Given the description of an element on the screen output the (x, y) to click on. 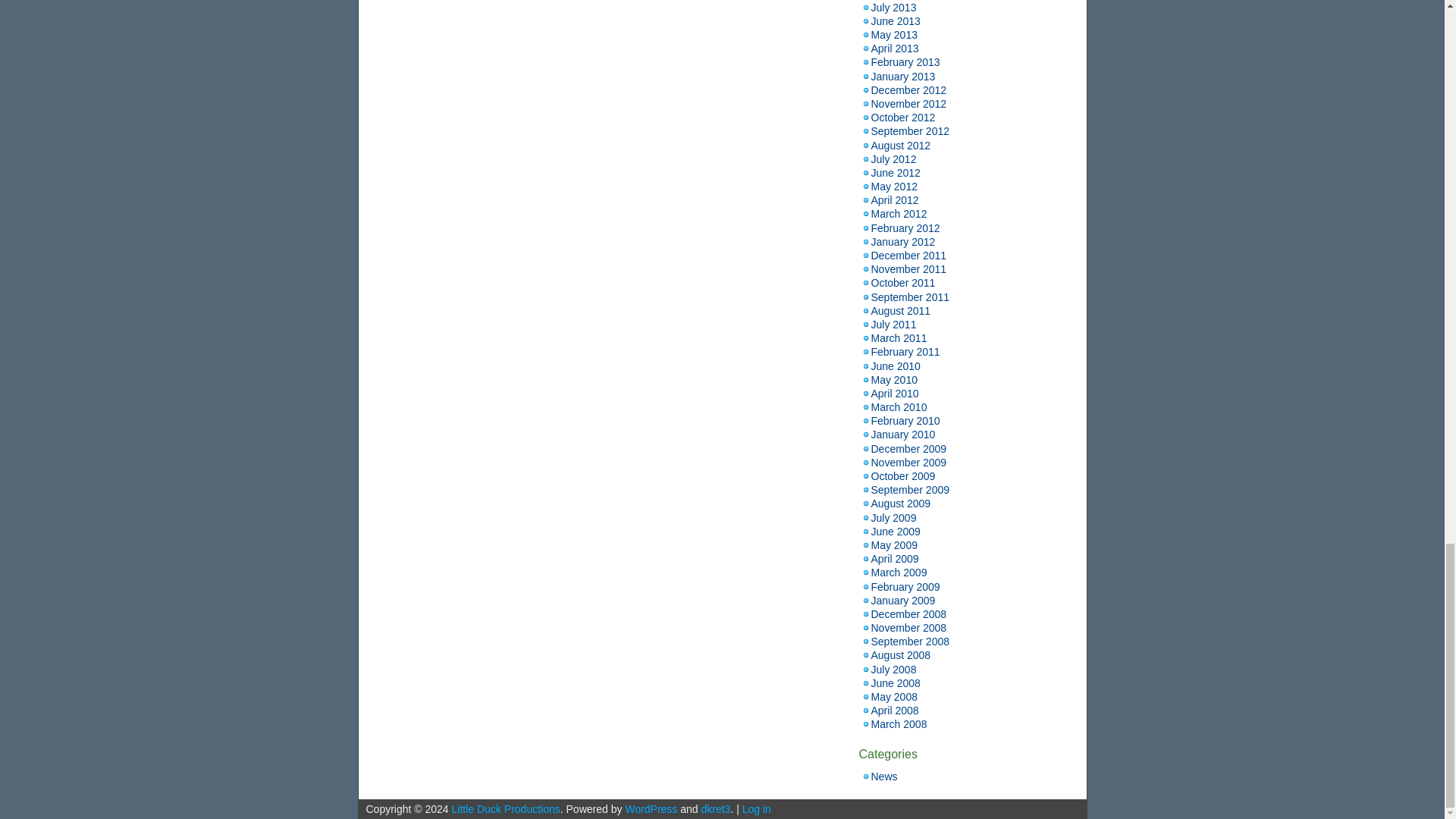
Little Duck Productions (505, 808)
Powered by WordPress (650, 808)
dkret3 4.7.1 (715, 808)
